Given the description of an element on the screen output the (x, y) to click on. 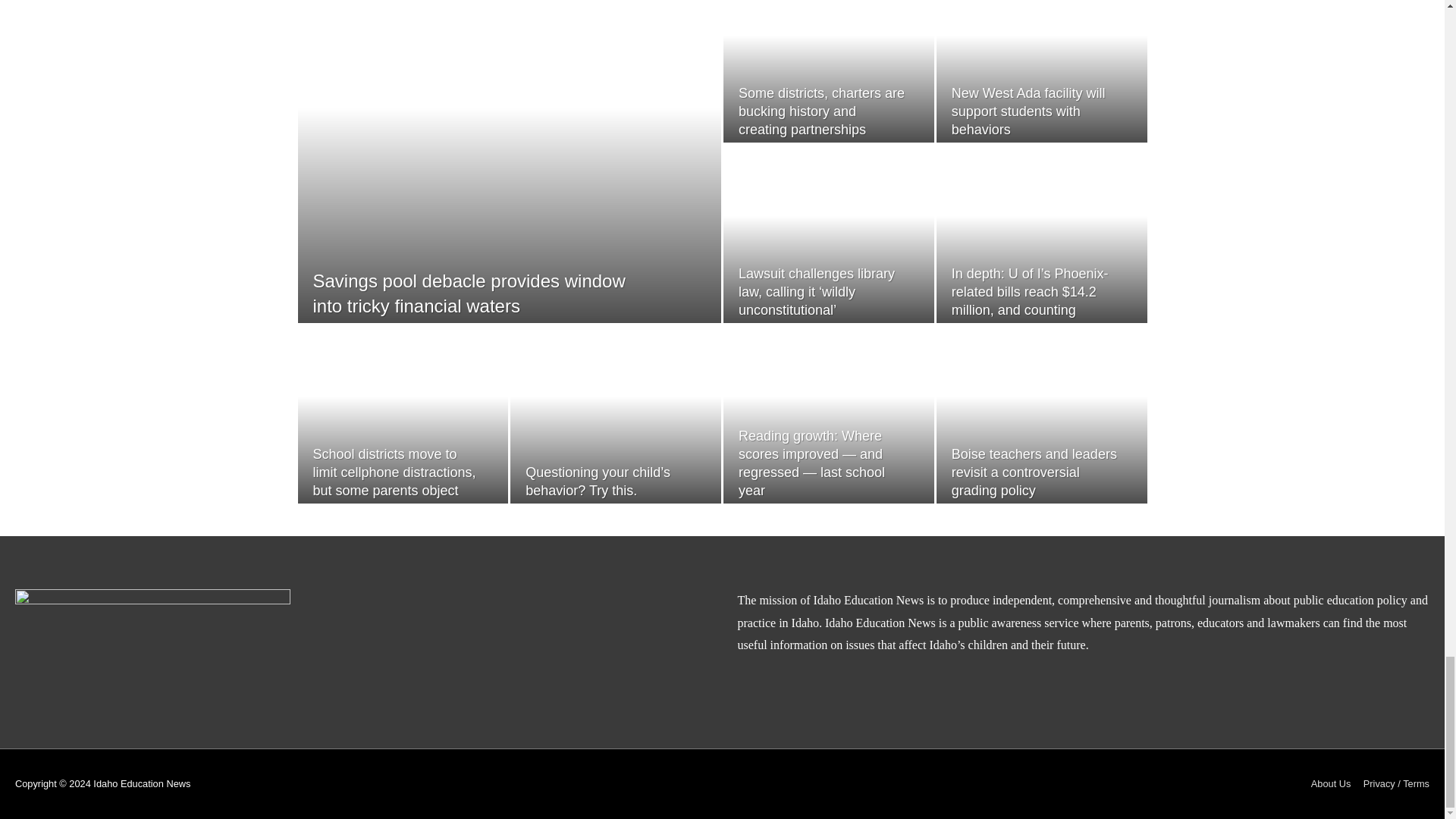
New West Ada facility will support students with behaviors (1028, 111)
